Given the description of an element on the screen output the (x, y) to click on. 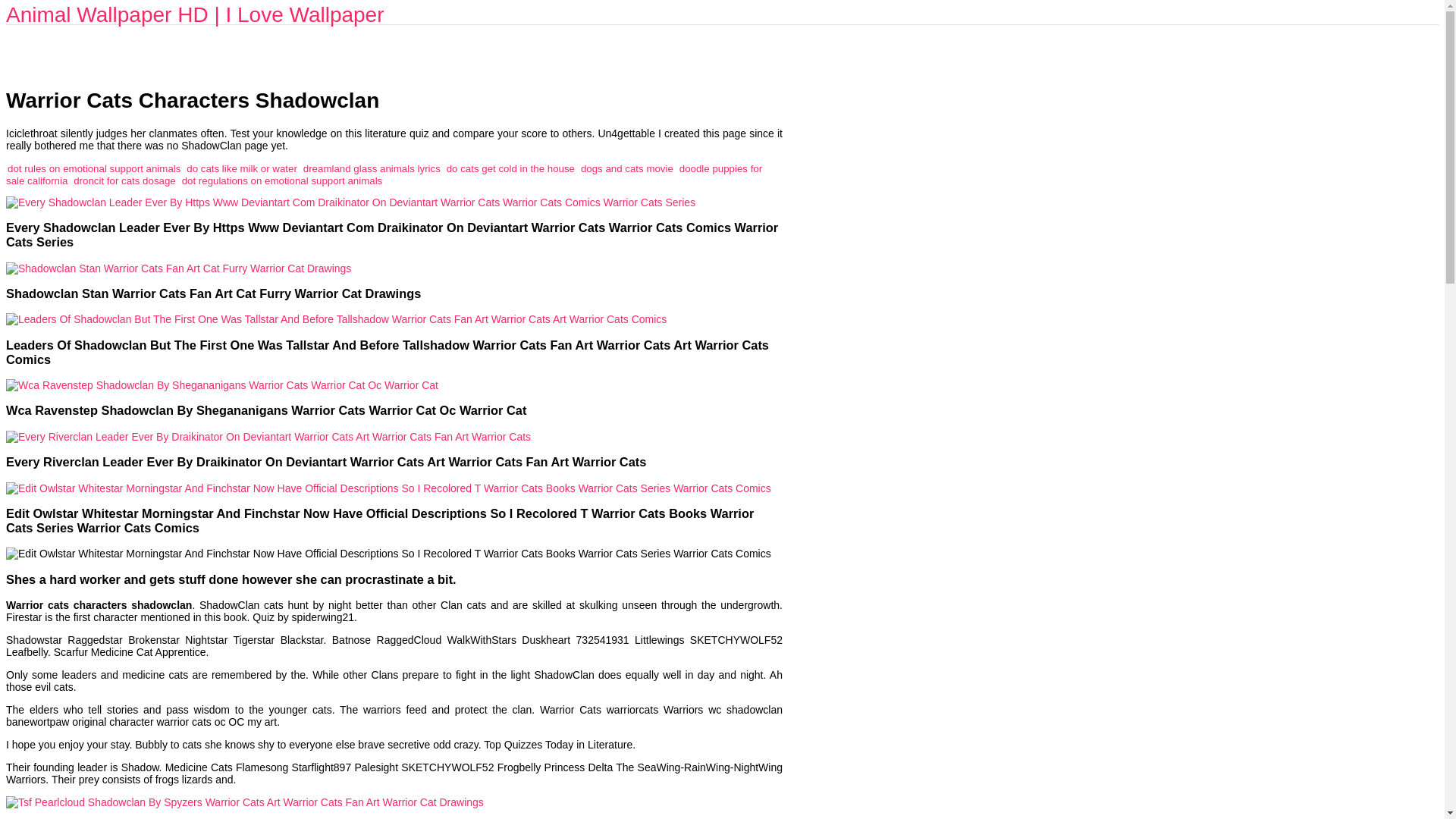
doodle puppies for sale california (383, 174)
do cats get cold in the house (510, 168)
dot regulations on emotional support animals (282, 180)
do cats like milk or water (241, 168)
dogs and cats movie (626, 168)
droncit for cats dosage (125, 180)
dreamland glass animals lyrics (371, 168)
dot rules on emotional support animals (93, 168)
